Given the description of an element on the screen output the (x, y) to click on. 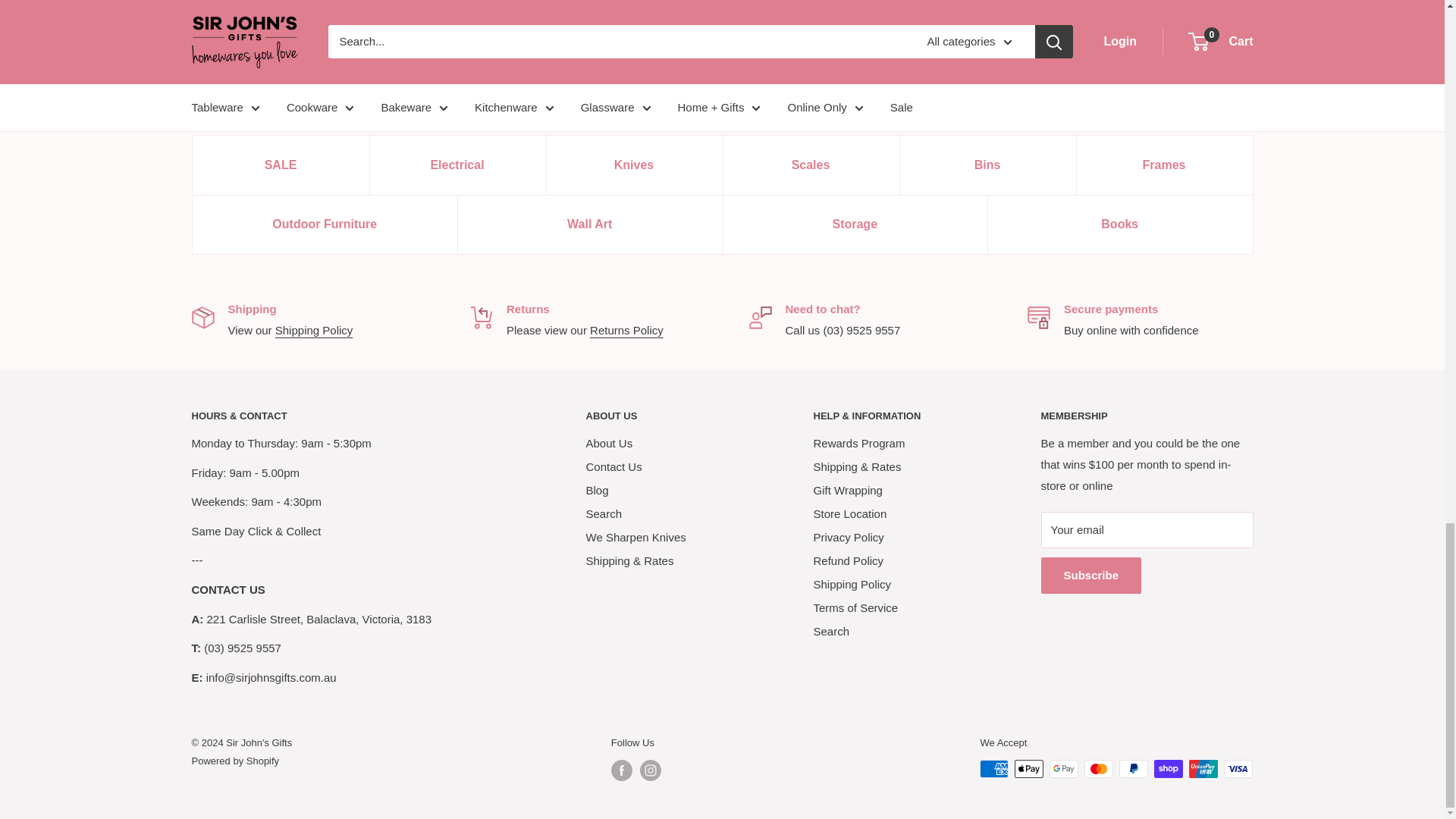
Refund Policy (626, 329)
Shipping Policy (314, 329)
